Given the description of an element on the screen output the (x, y) to click on. 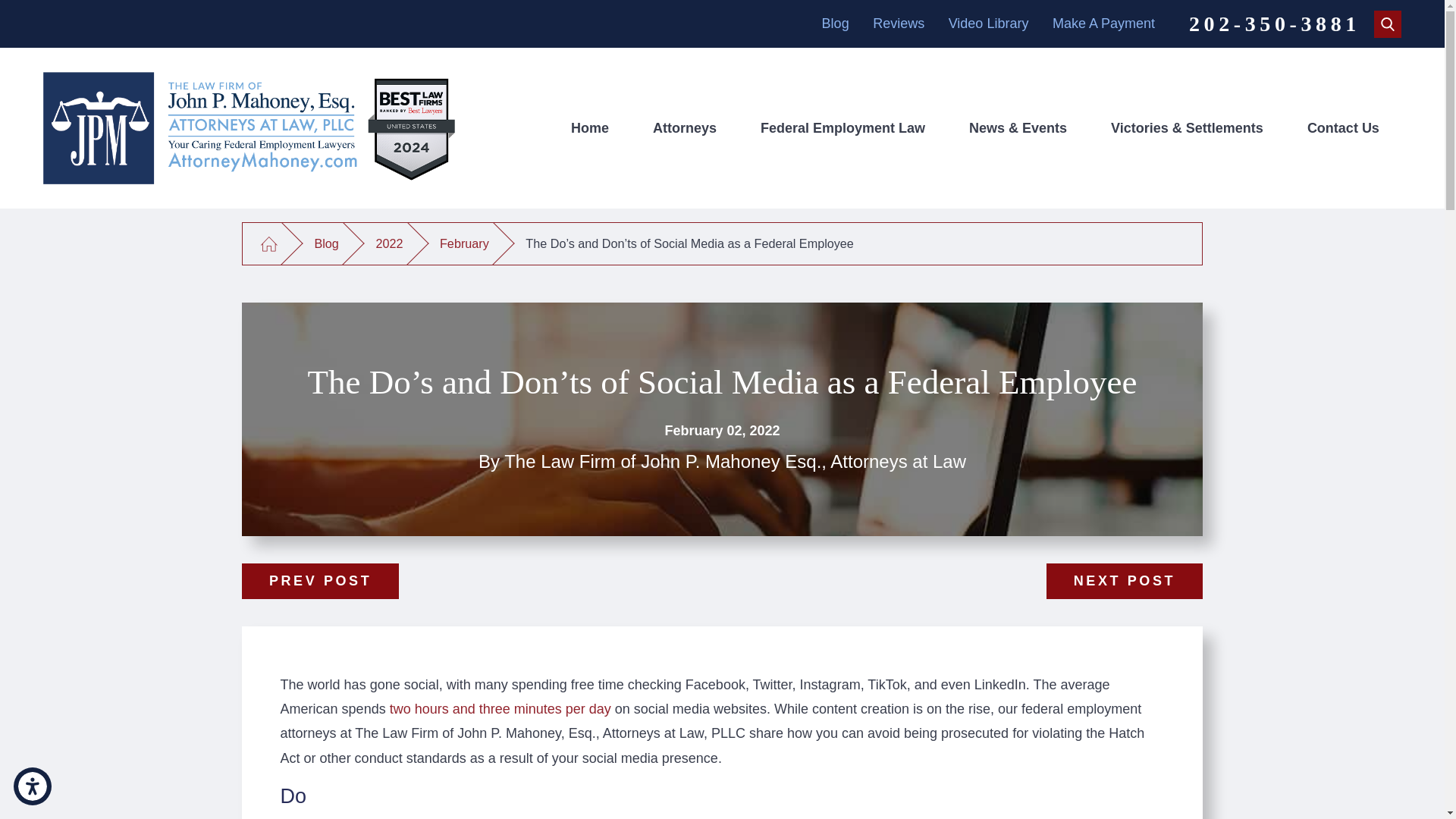
Go Home (269, 243)
202-350-3881 (1274, 23)
Federal Employment Law (842, 127)
Search Icon (1387, 23)
Video Library (989, 23)
Reviews (898, 23)
Blog (835, 23)
Open the accessibility options menu (31, 786)
Make A Payment (1103, 23)
